Given the description of an element on the screen output the (x, y) to click on. 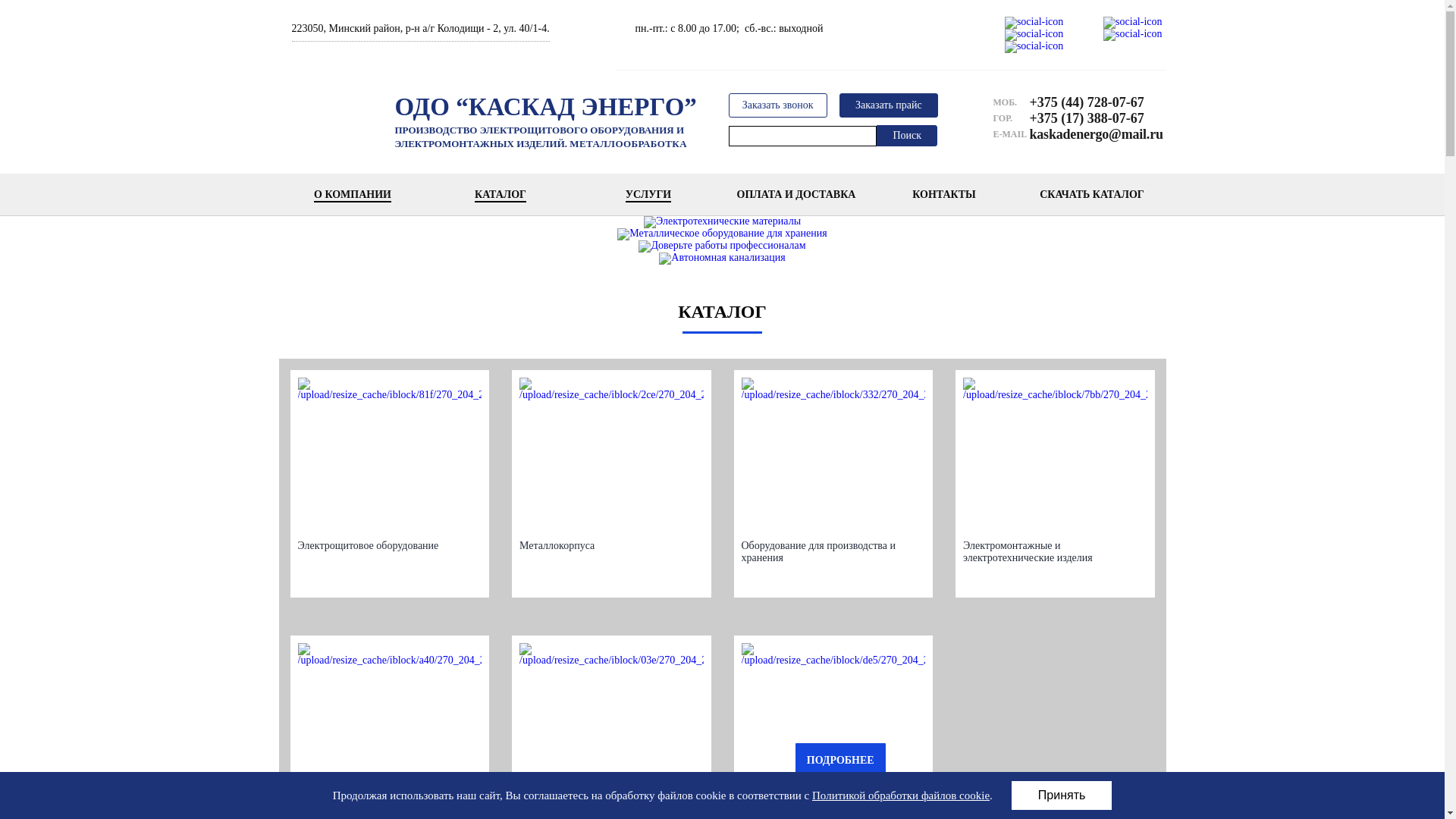
+375 (17) 388-07-67 Element type: text (1090, 118)
+375 (44) 728-07-67 Element type: text (1090, 102)
kaskadenergo@mail.ru Element type: text (1090, 134)
